Given the description of an element on the screen output the (x, y) to click on. 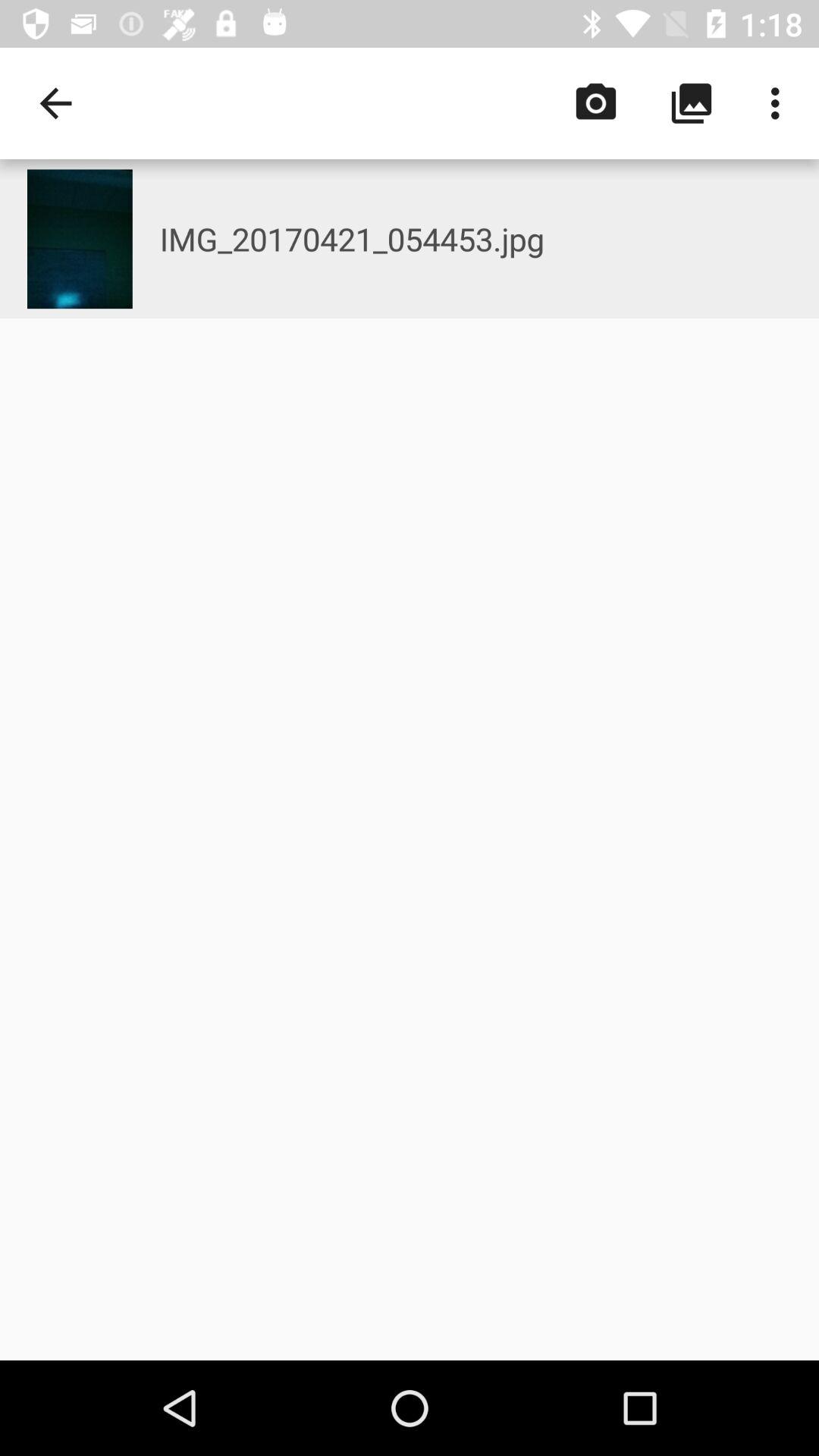
scroll until img_20170421_054453.jpg item (489, 238)
